Given the description of an element on the screen output the (x, y) to click on. 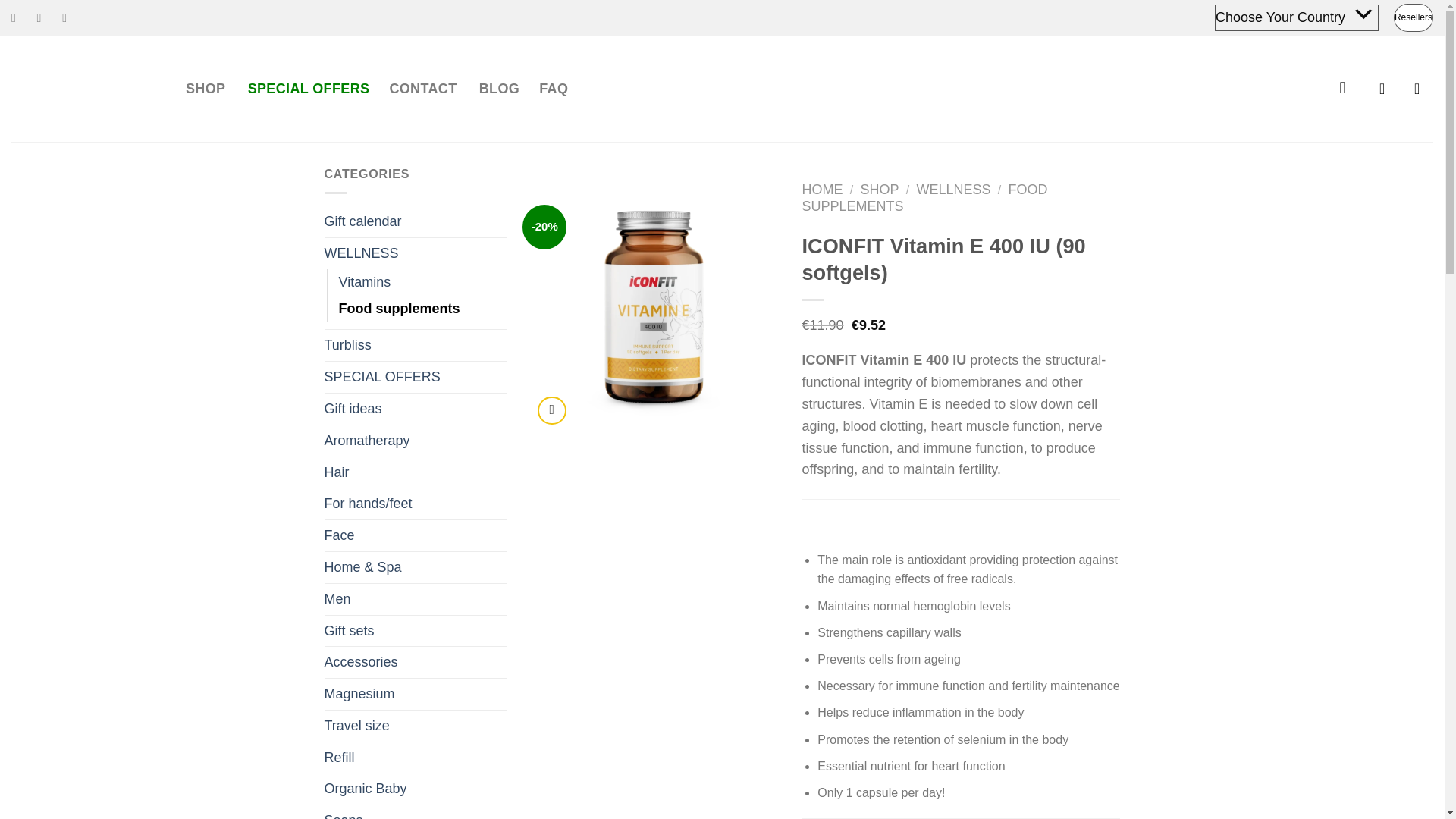
Zoom (551, 410)
Resellers (1412, 17)
Nurme Natural Cosmetics (87, 88)
Choose Your Country (1296, 17)
